Given the description of an element on the screen output the (x, y) to click on. 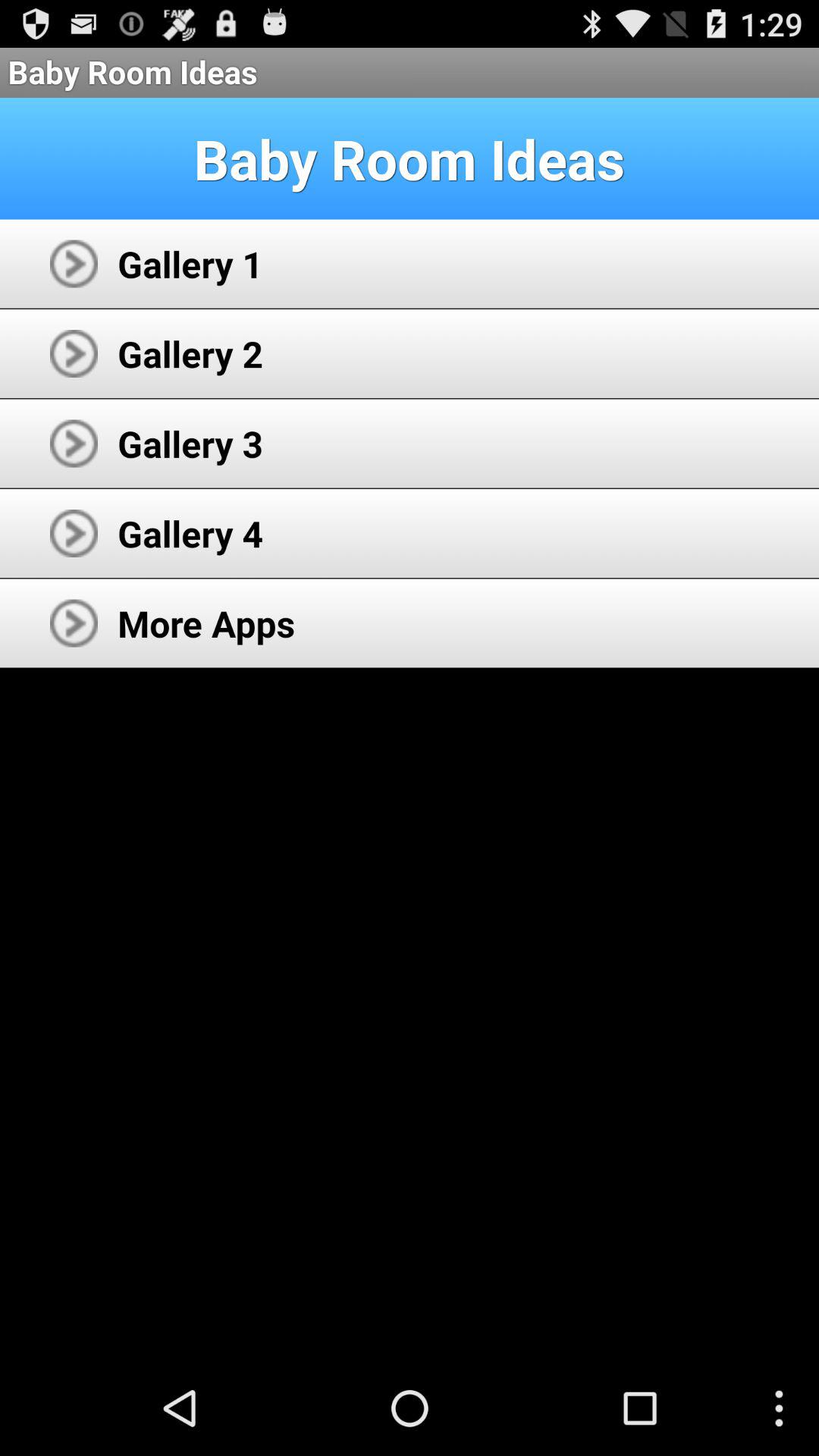
scroll to gallery 2 item (190, 353)
